Given the description of an element on the screen output the (x, y) to click on. 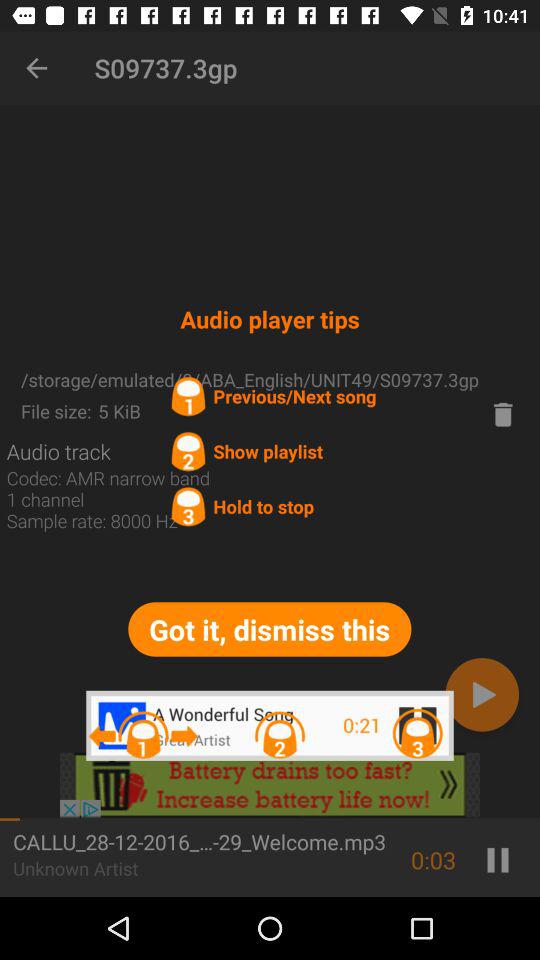
choose codec amr narrow (108, 510)
